Given the description of an element on the screen output the (x, y) to click on. 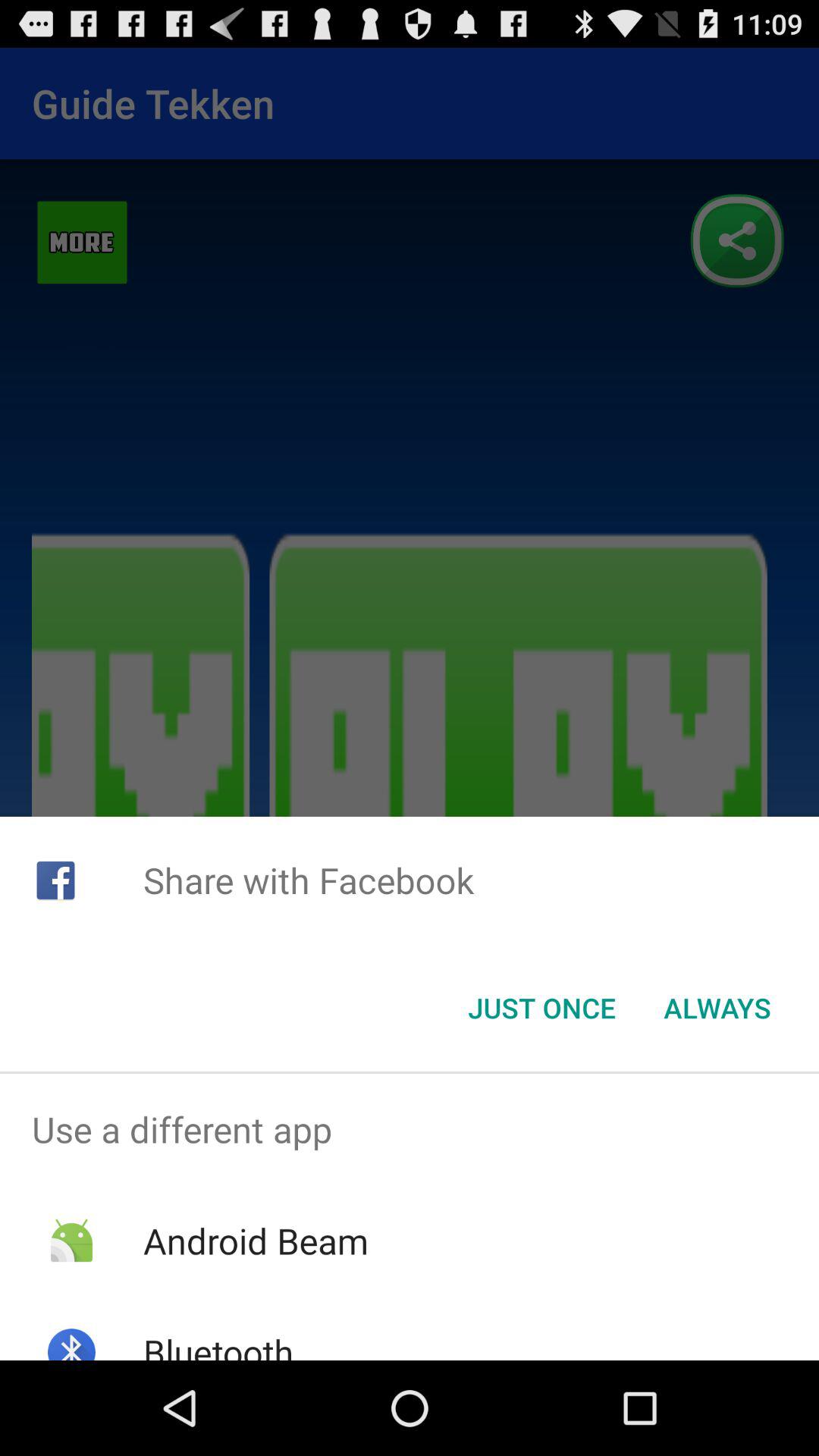
turn on always item (717, 1007)
